Given the description of an element on the screen output the (x, y) to click on. 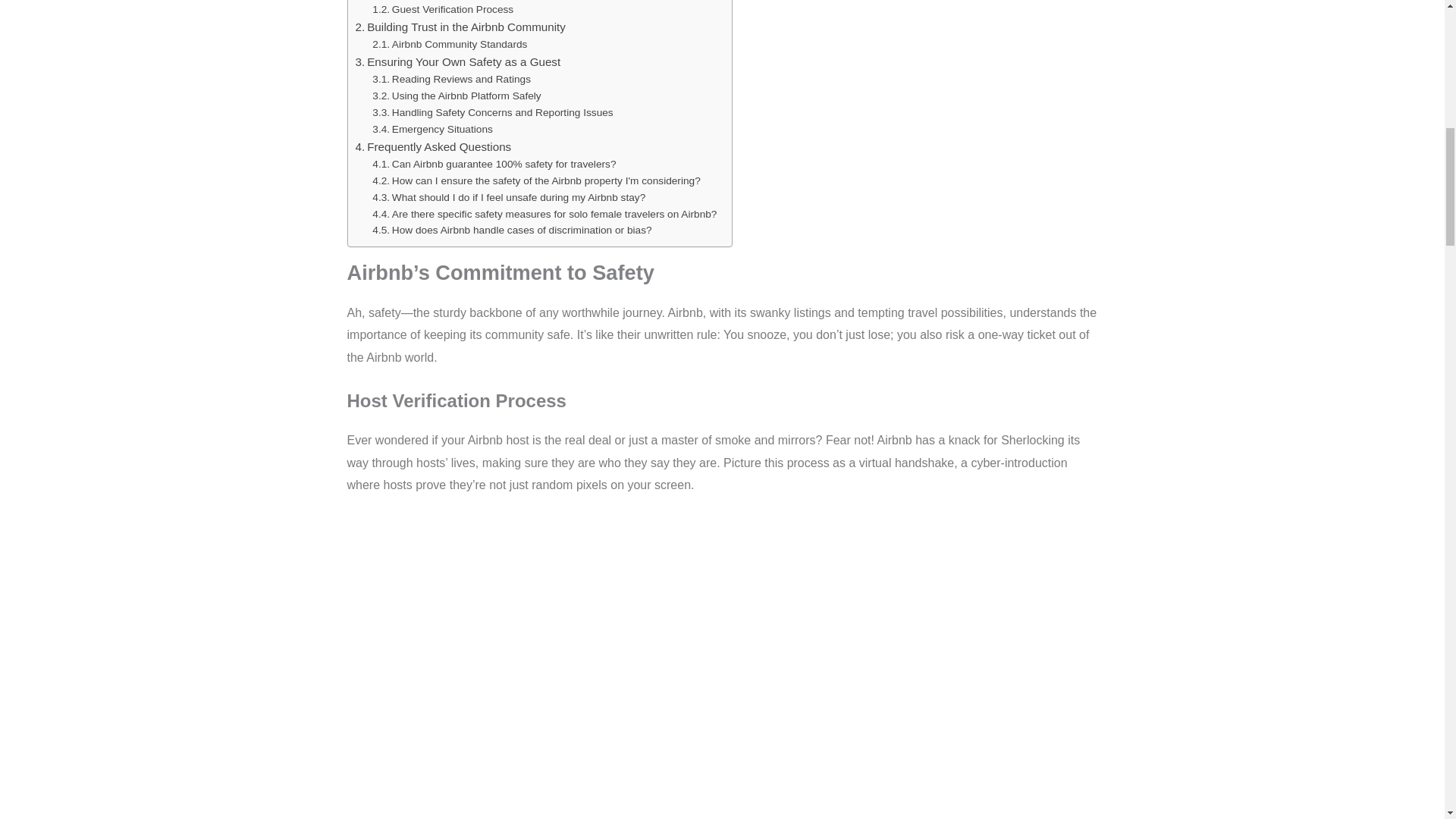
Reading Reviews and Ratings (451, 79)
Guest Verification Process (442, 9)
Ensuring Your Own Safety as a Guest (457, 62)
Frequently Asked Questions (433, 147)
Host Verification Process (439, 0)
Frequently Asked Questions (433, 147)
Handling Safety Concerns and Reporting Issues (492, 112)
How does Airbnb handle cases of discrimination or bias? (511, 230)
Building Trust in the Airbnb Community (459, 27)
Using the Airbnb Platform Safely (456, 95)
Airbnb Community Standards (449, 44)
What should I do if I feel unsafe during my Airbnb stay? (508, 197)
Using the Airbnb Platform Safely (456, 95)
